Given the description of an element on the screen output the (x, y) to click on. 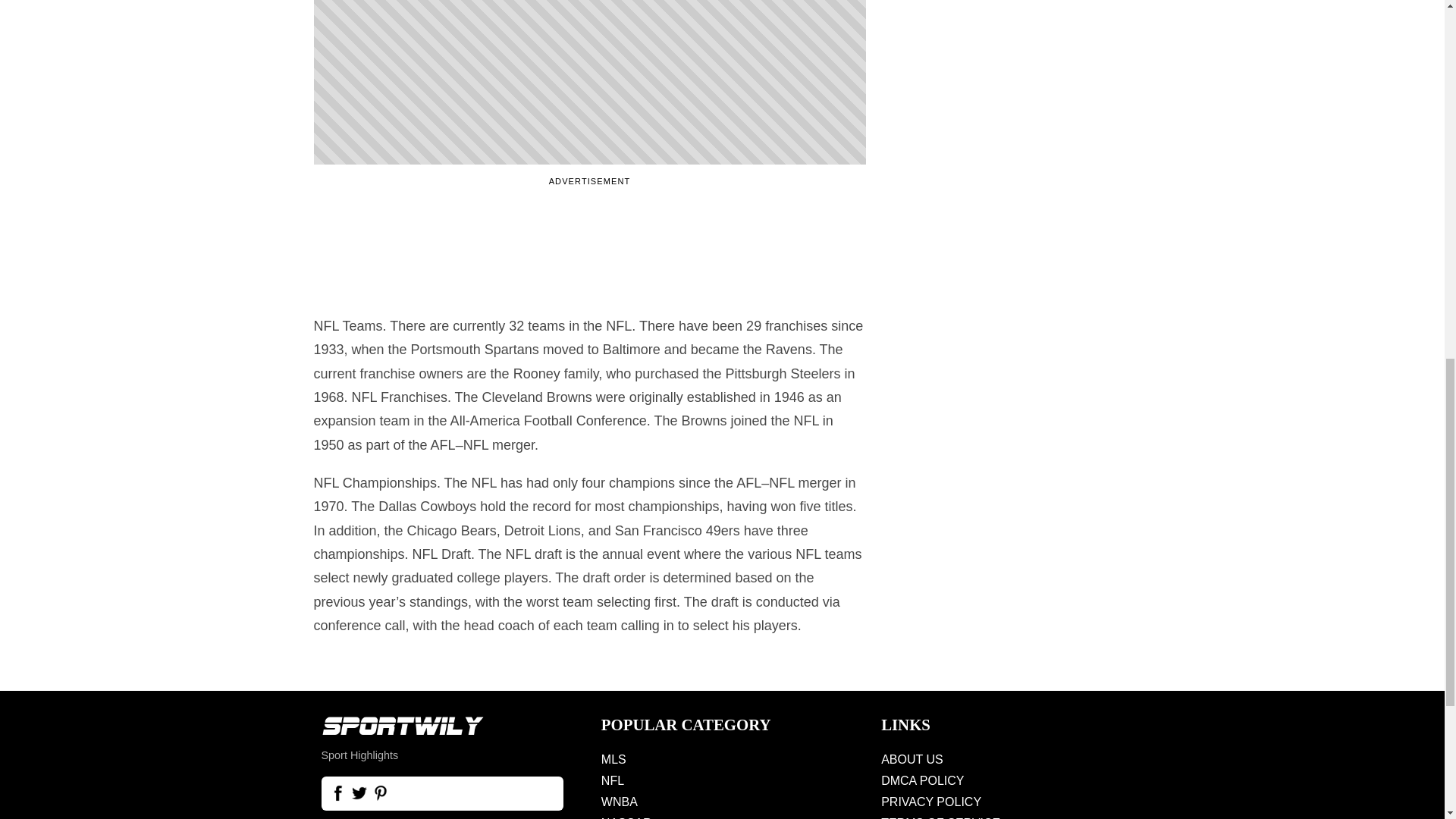
WNBA (722, 802)
NFL (722, 780)
MLS (722, 759)
